Given the description of an element on the screen output the (x, y) to click on. 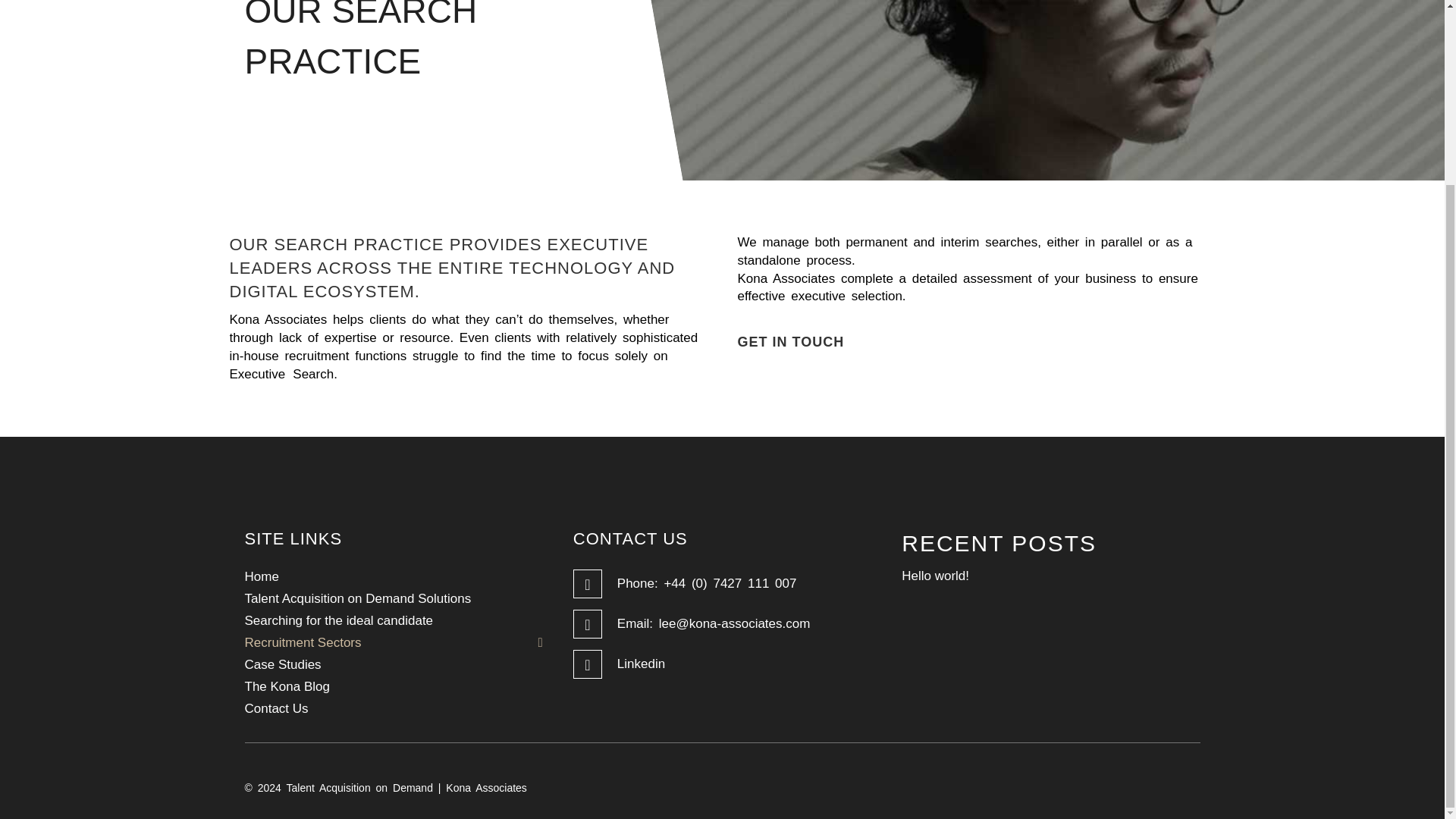
Recruitment Sectors (392, 642)
Home (392, 576)
Searching for the ideal candidate (392, 620)
The Kona Blog (392, 686)
Contact Us (392, 708)
Talent Acquisition on Demand Solutions (392, 598)
GET IN TOUCH (790, 342)
Case Studies (392, 664)
